Given the description of an element on the screen output the (x, y) to click on. 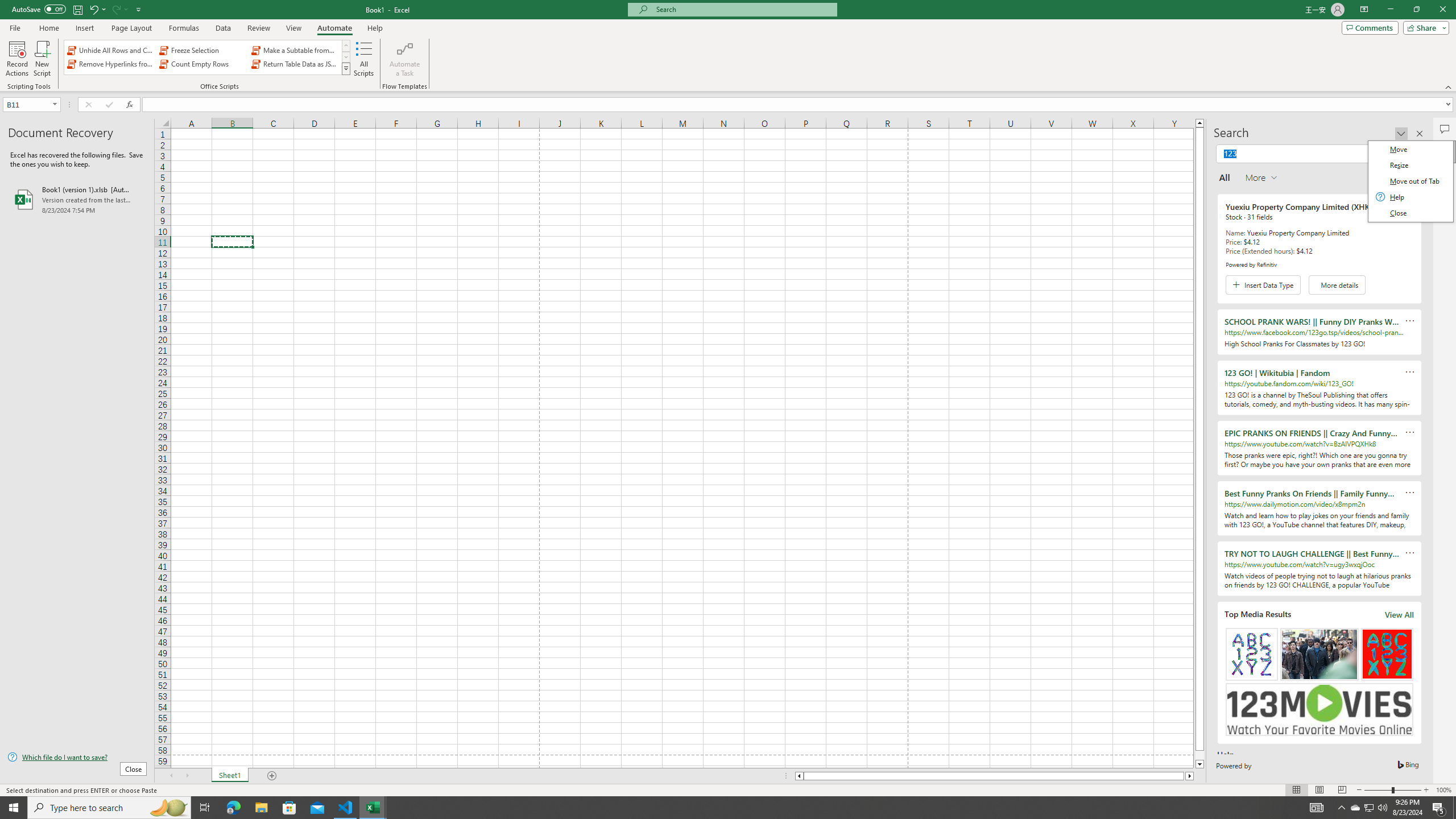
All Scripts (363, 58)
Running applications (717, 807)
Make a Subtable from a Selection (294, 50)
Office Scripts (346, 68)
